Given the description of an element on the screen output the (x, y) to click on. 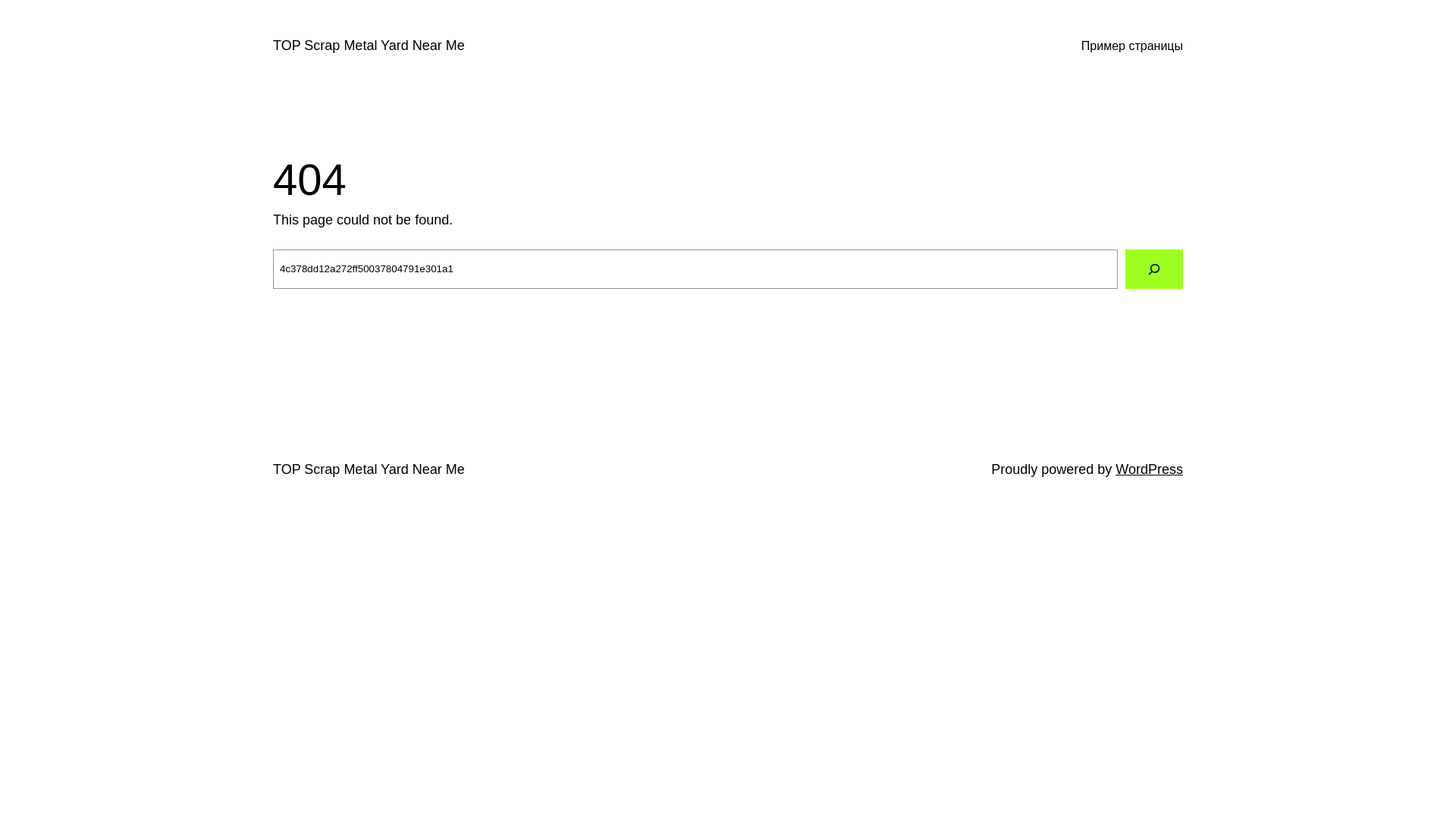
TOP Scrap Metal Yard Near Me Element type: text (368, 468)
WordPress Element type: text (1149, 468)
TOP Scrap Metal Yard Near Me Element type: text (368, 45)
